Given the description of an element on the screen output the (x, y) to click on. 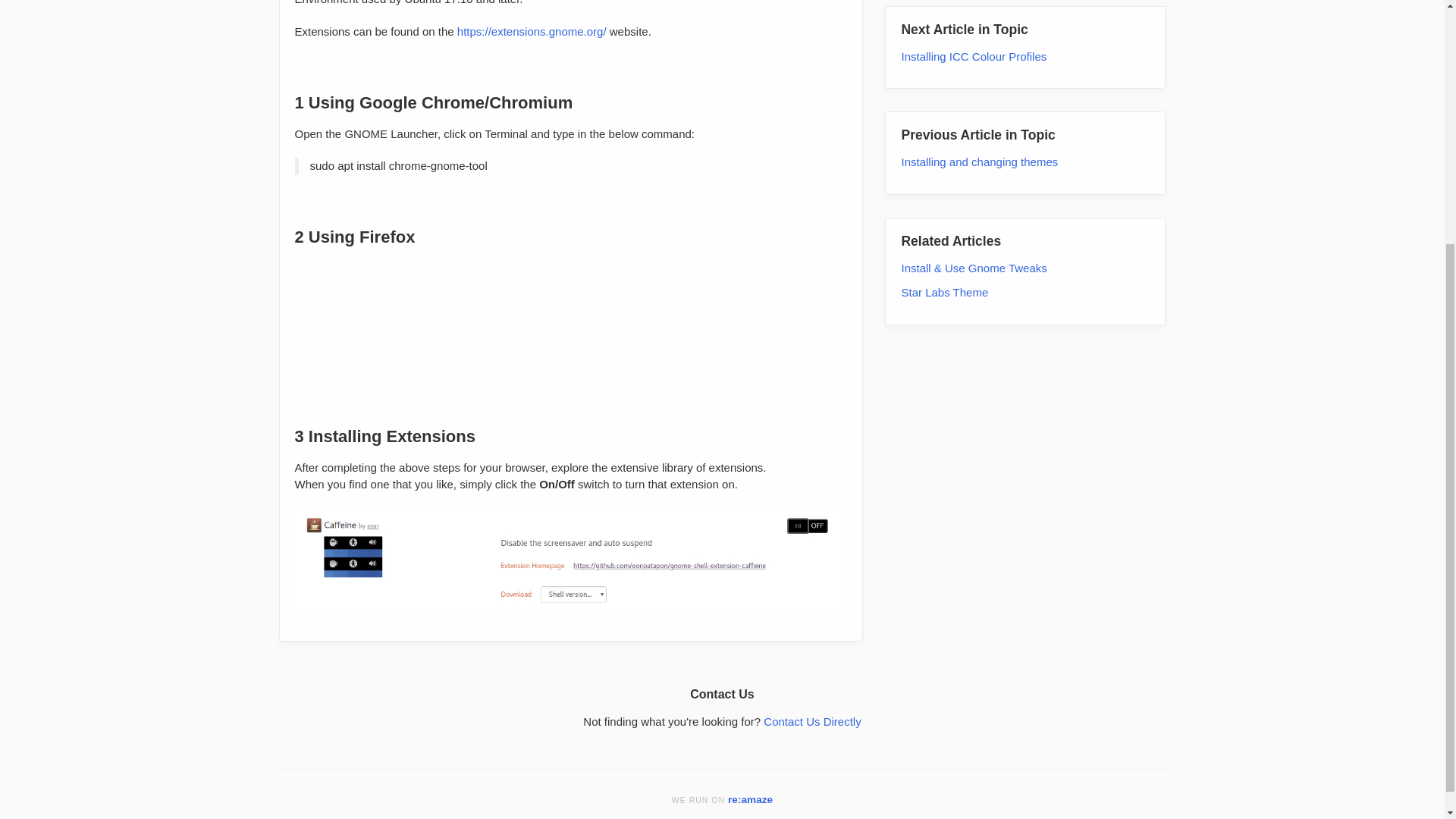
Contact Us Directly (811, 721)
Installing and changing themes (979, 75)
re:amaze (750, 799)
Star Labs Theme (944, 205)
